Given the description of an element on the screen output the (x, y) to click on. 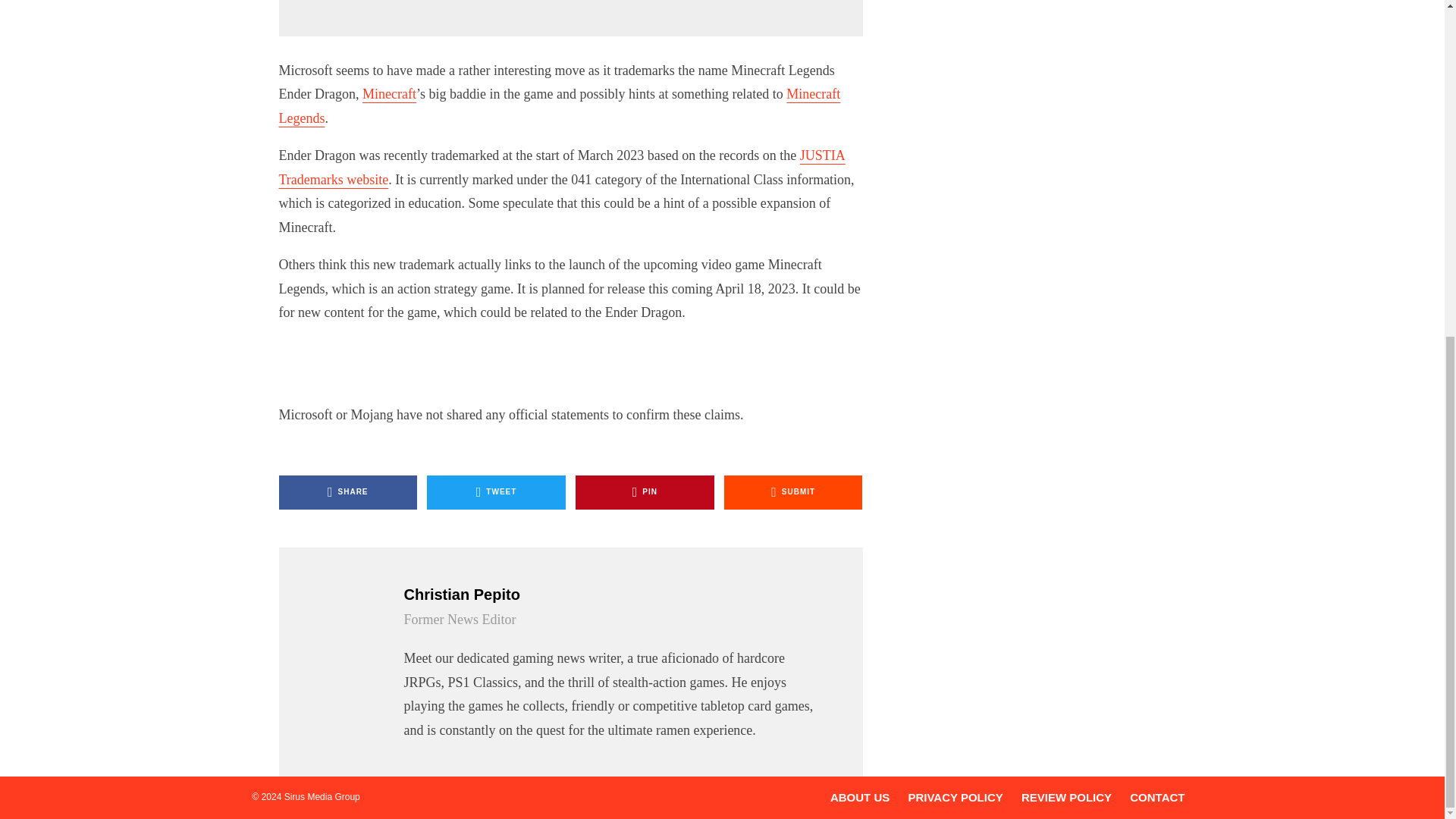
ABOUT US (859, 797)
Christian Pepito (613, 594)
Minecraft Legends (560, 106)
CONTACT (1157, 797)
PIN (644, 492)
SHARE (348, 492)
JUSTIA Trademarks website (562, 167)
REVIEW POLICY (1067, 797)
TWEET (496, 492)
PRIVACY POLICY (955, 797)
SUBMIT (793, 492)
Minecraft (389, 93)
